Given the description of an element on the screen output the (x, y) to click on. 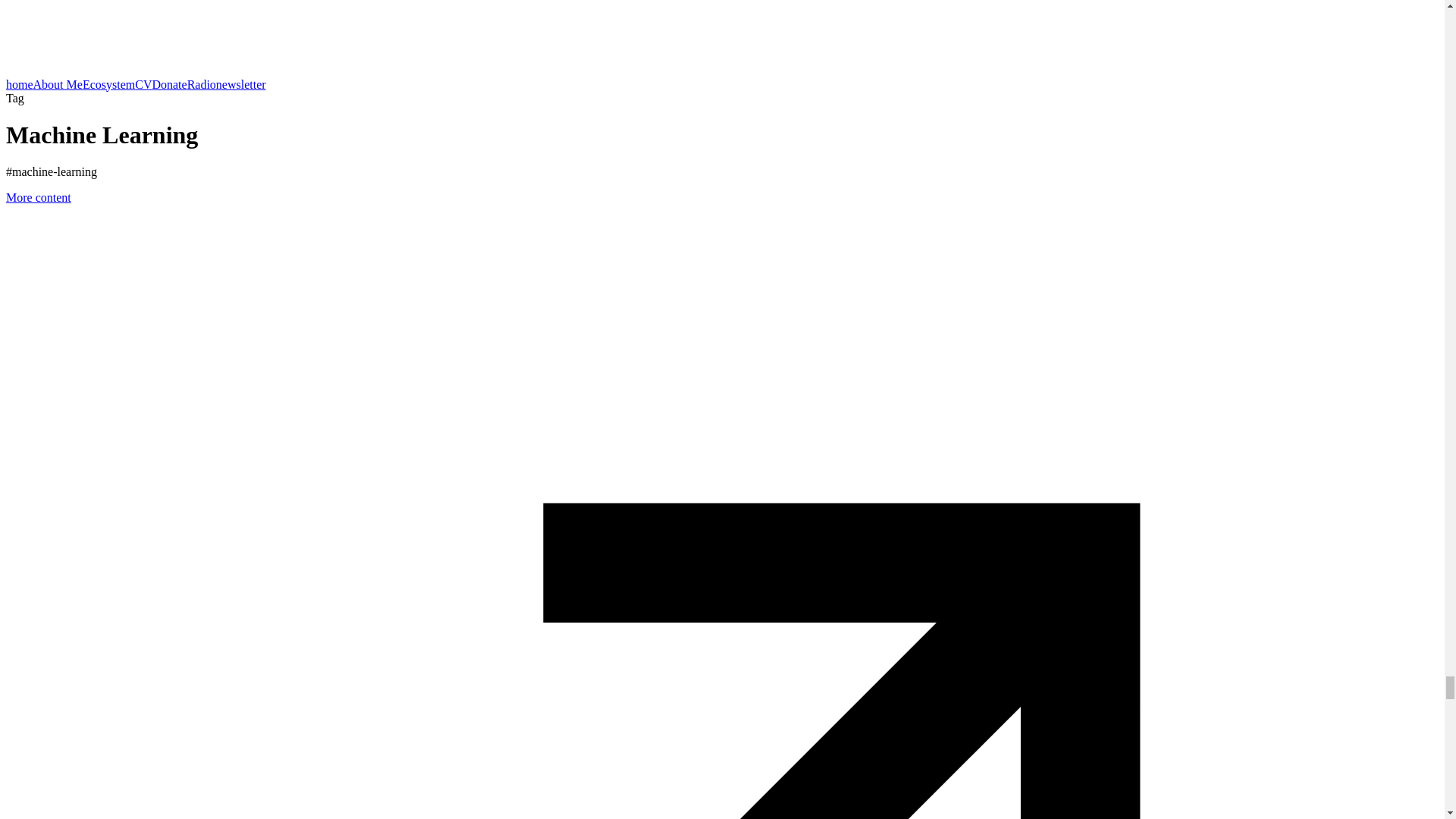
Ecosystem (108, 83)
home (19, 83)
newsletter (240, 83)
About Me (57, 83)
Radio (201, 83)
CV (143, 83)
Donate (168, 83)
